Given the description of an element on the screen output the (x, y) to click on. 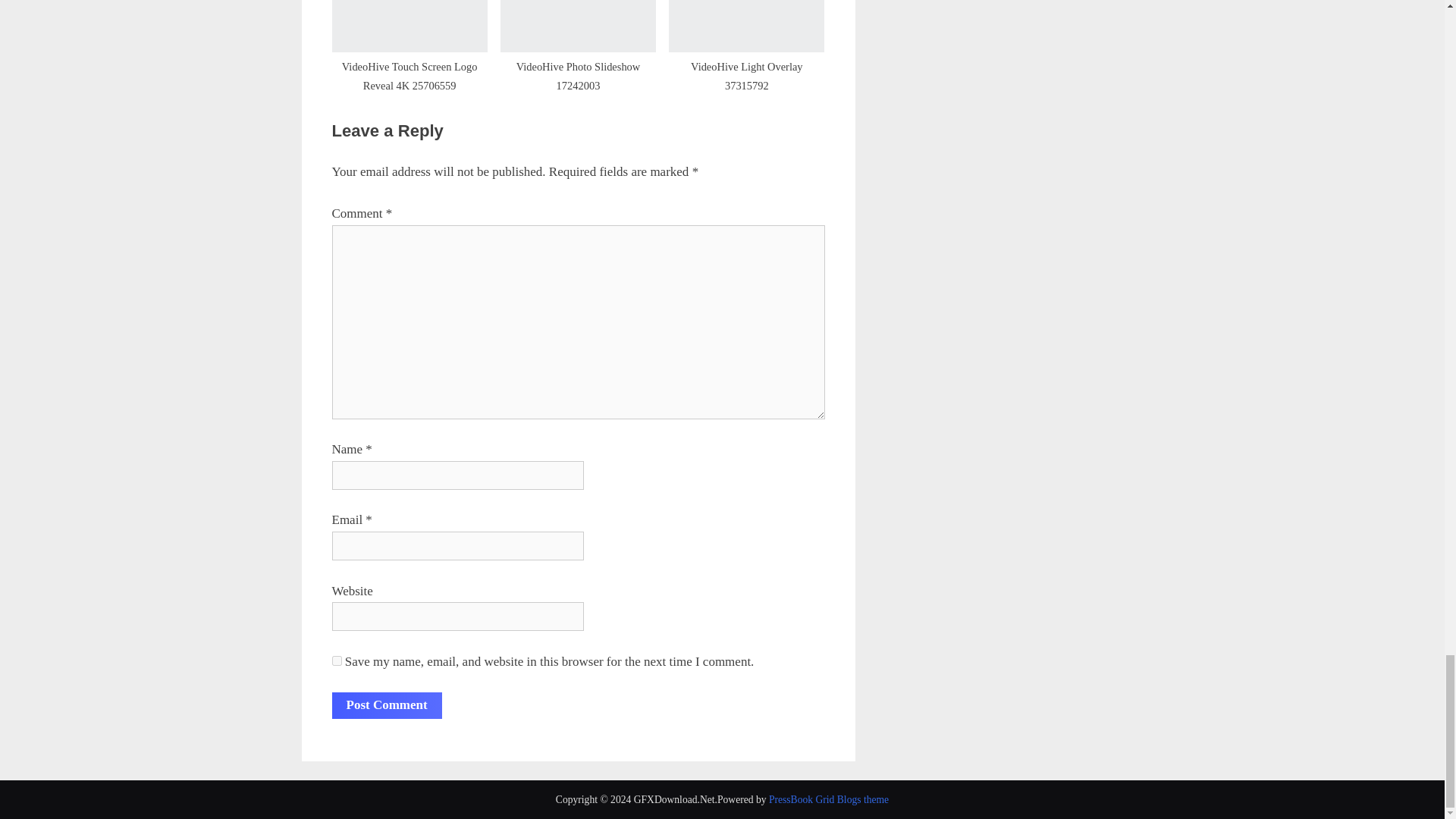
yes (336, 660)
Post Comment (386, 705)
